Given the description of an element on the screen output the (x, y) to click on. 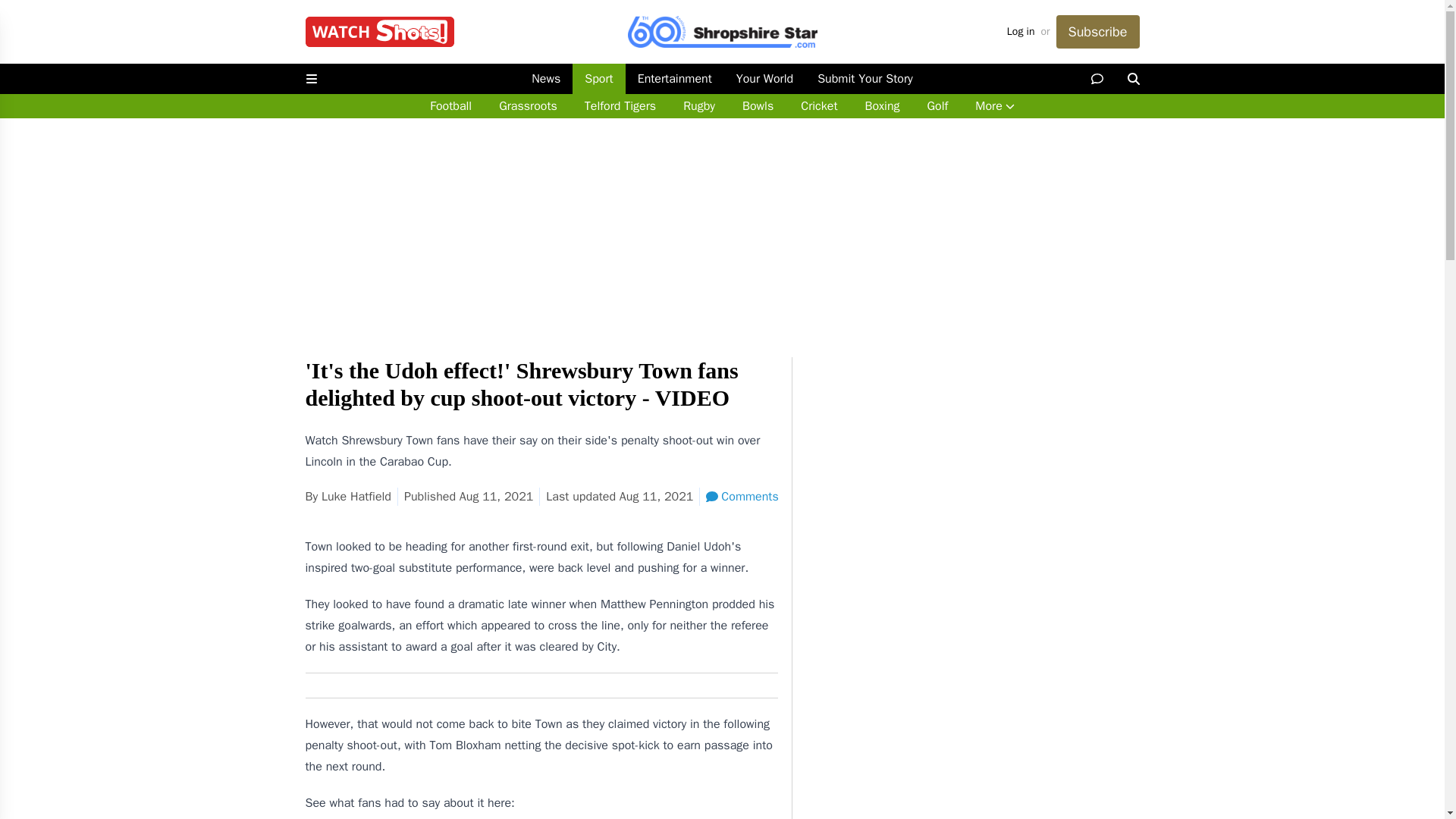
More (994, 105)
Your World (764, 78)
Subscribe (1096, 31)
Rugby (698, 105)
Golf (936, 105)
Log in (1021, 31)
Submit Your Story (864, 78)
Telford Tigers (620, 105)
Football (450, 105)
Cricket (818, 105)
News (545, 78)
Grassroots (527, 105)
Entertainment (674, 78)
Sport (598, 78)
Bowls (758, 105)
